Given the description of an element on the screen output the (x, y) to click on. 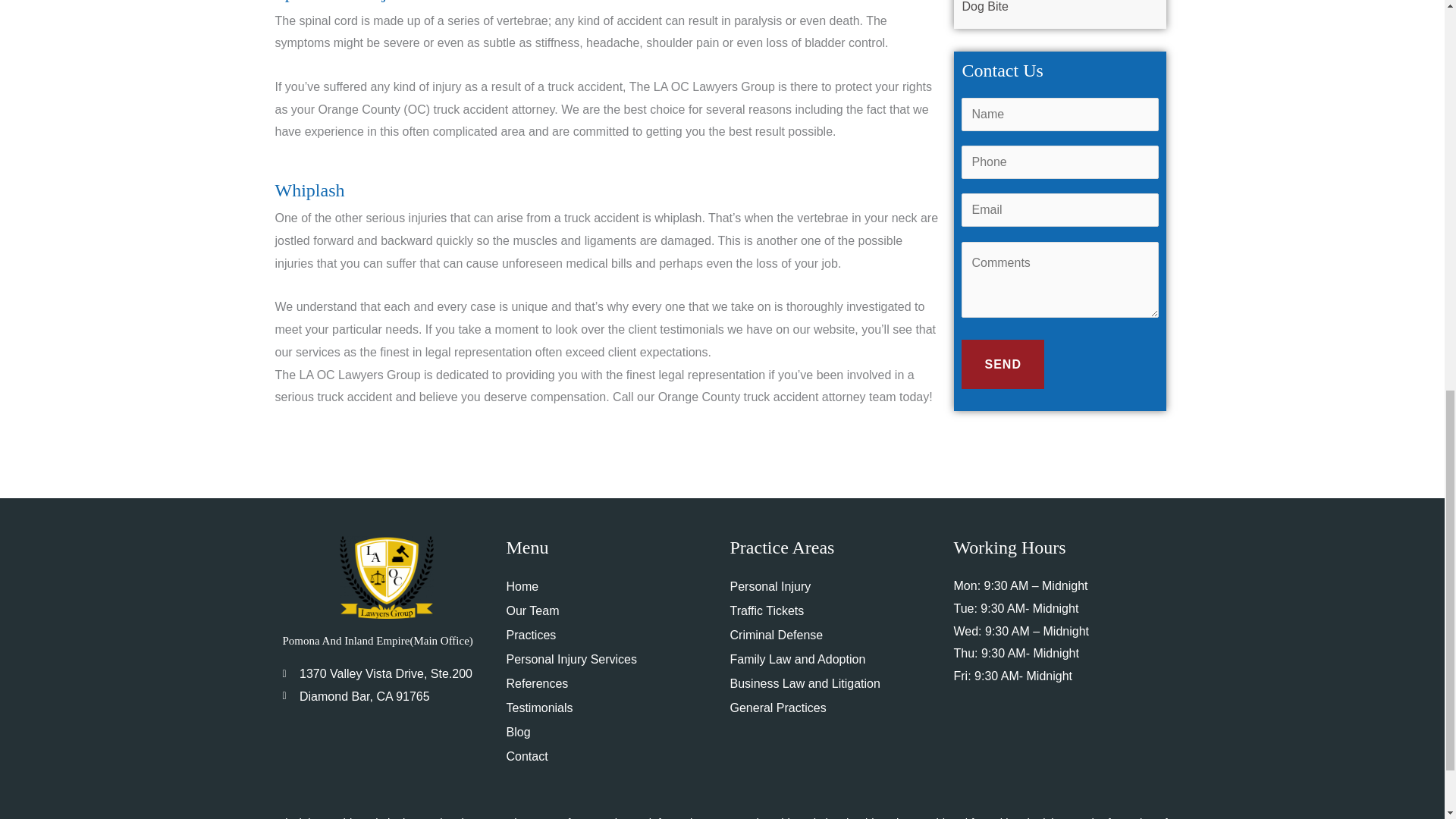
SEND (1001, 364)
